Given the description of an element on the screen output the (x, y) to click on. 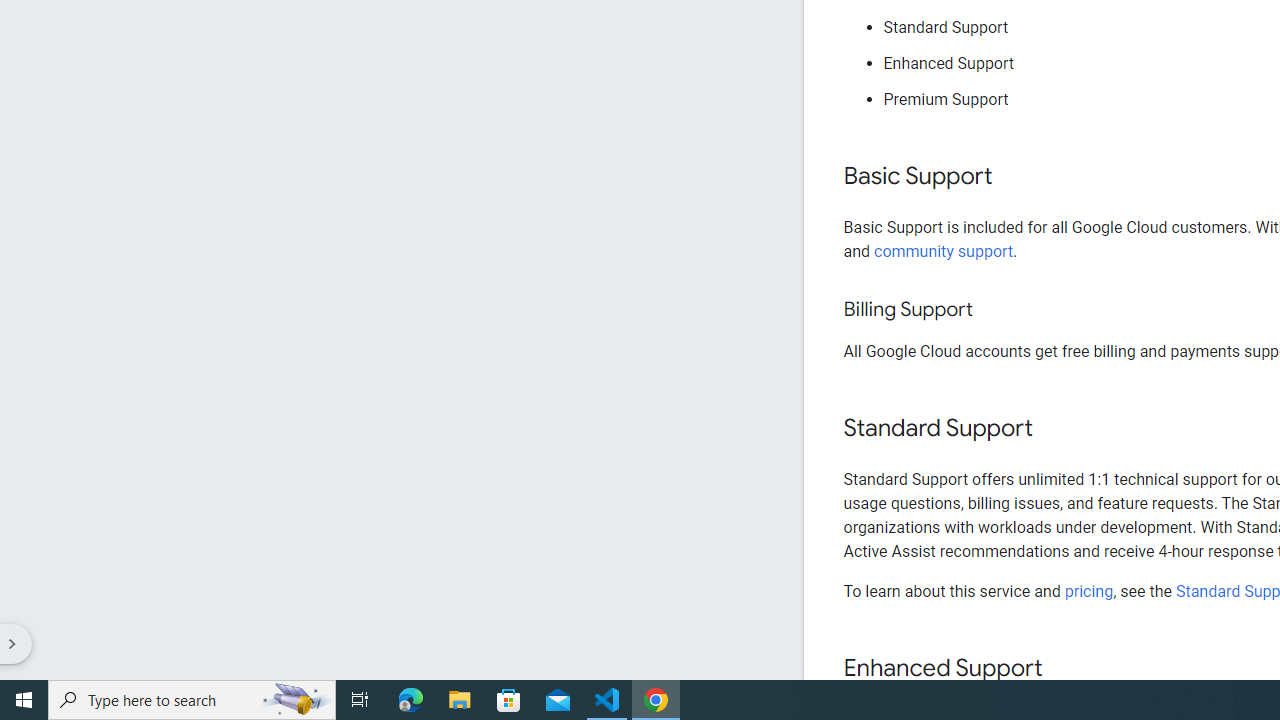
Copy link to this section: Basic Support (1012, 177)
Copy link to this section: Enhanced Support (1061, 668)
Copy link to this section: Standard Support (1052, 429)
Copy link to this section: Billing Support (991, 310)
community support (943, 250)
pricing (1088, 591)
